Given the description of an element on the screen output the (x, y) to click on. 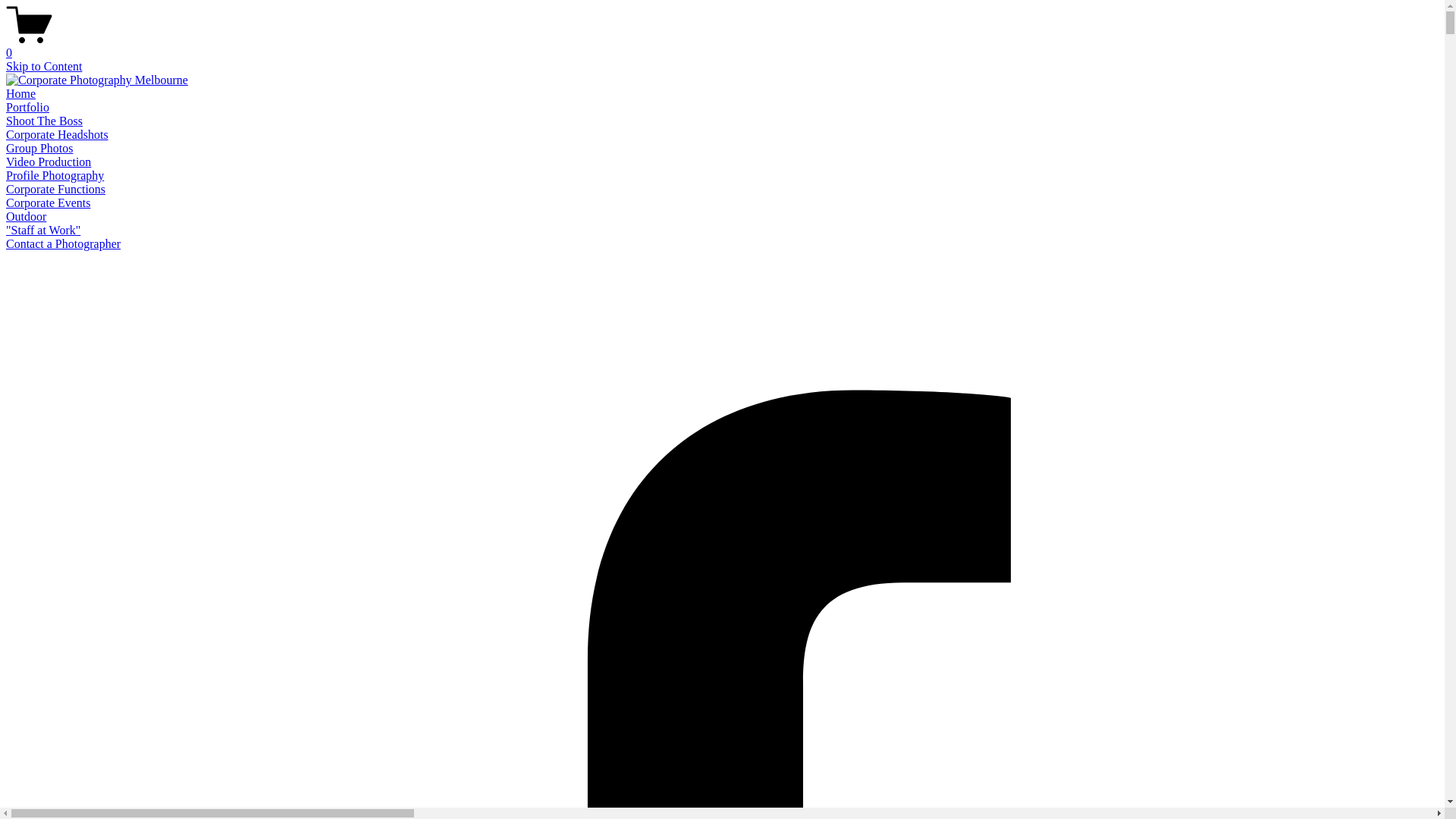
Outdoor Element type: text (26, 216)
Corporate Headshots Element type: text (57, 134)
Home Element type: text (20, 93)
"Staff at Work" Element type: text (43, 229)
Corporate Events Element type: text (48, 202)
Contact a Photographer Element type: text (63, 243)
0 Element type: text (722, 45)
Portfolio Element type: text (27, 106)
Shoot The Boss Element type: text (44, 120)
Profile Photography Element type: text (54, 175)
Group Photos Element type: text (39, 147)
Corporate Functions Element type: text (55, 188)
Skip to Content Element type: text (43, 65)
Video Production Element type: text (48, 161)
